Given the description of an element on the screen output the (x, y) to click on. 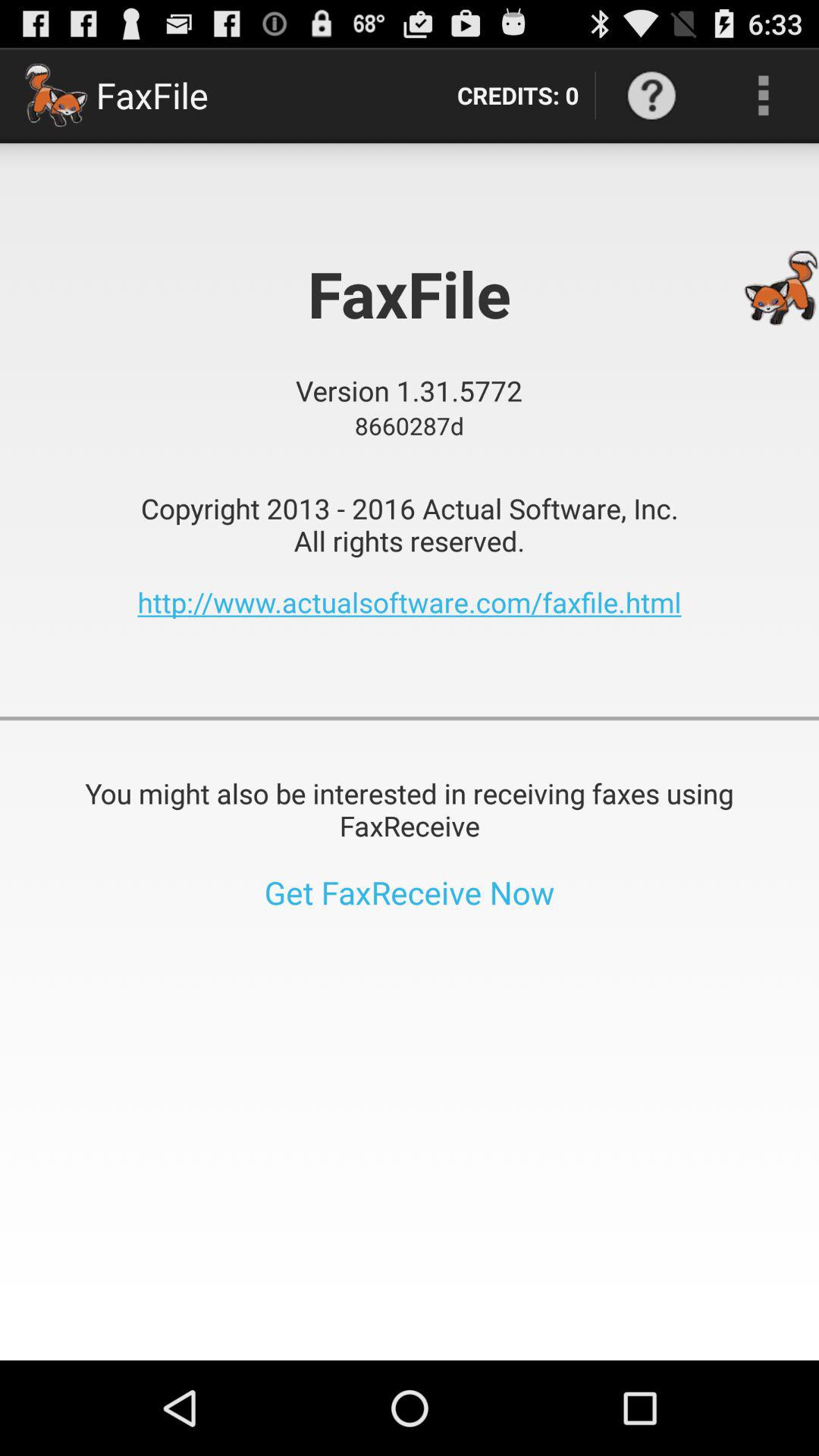
click credits: 0 (517, 95)
